Given the description of an element on the screen output the (x, y) to click on. 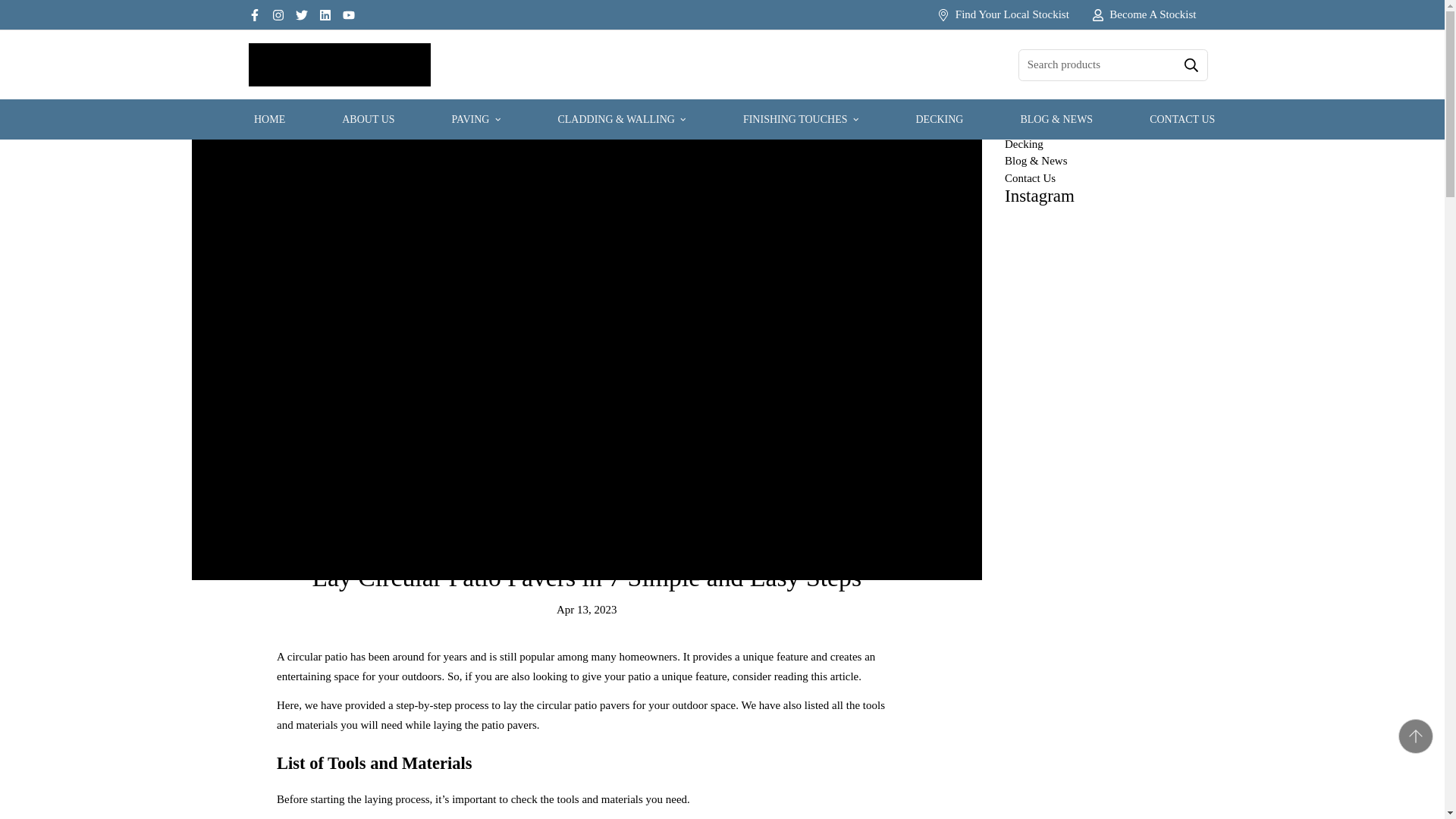
PAVING (476, 119)
ABOUT US (367, 119)
HOME (269, 119)
Find Your Local Stockist (1003, 14)
DigbyStone (339, 65)
Become A Stockist (1144, 14)
